Given the description of an element on the screen output the (x, y) to click on. 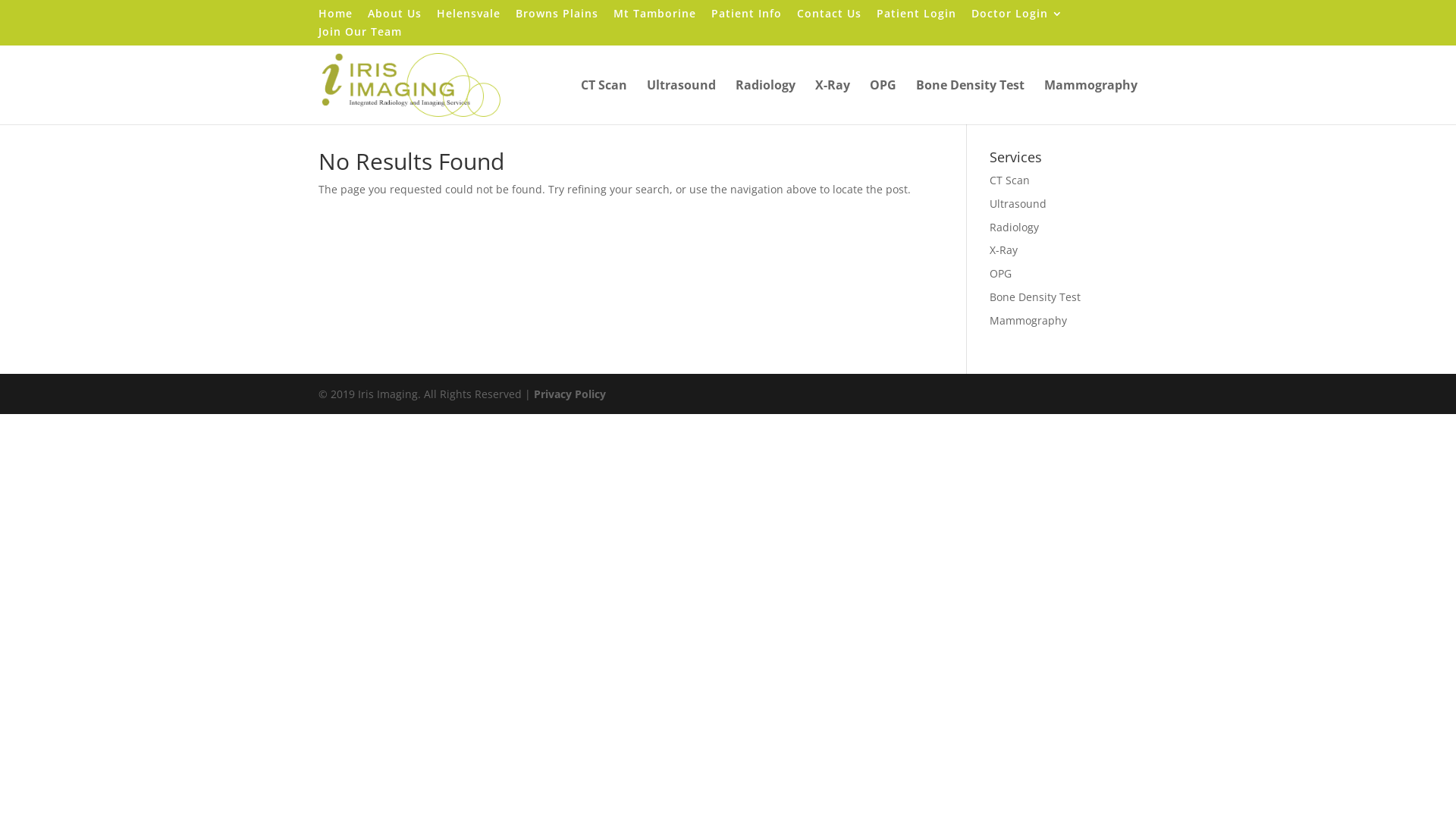
Ultrasound Element type: text (1017, 203)
Browns Plains Element type: text (556, 16)
Privacy Policy Element type: text (569, 393)
Ultrasound Element type: text (680, 101)
Bone Density Test Element type: text (970, 101)
OPG Element type: text (1000, 273)
Join Our Team Element type: text (359, 35)
X-Ray Element type: text (832, 101)
Radiology Element type: text (1013, 226)
Mammography Element type: text (1027, 320)
Home Element type: text (335, 16)
About Us Element type: text (394, 16)
CT Scan Element type: text (603, 101)
X-Ray Element type: text (1003, 249)
Contact Us Element type: text (829, 16)
Bone Density Test Element type: text (1034, 296)
Radiology Element type: text (765, 101)
Doctor Login Element type: text (1017, 16)
Patient Info Element type: text (746, 16)
Mammography Element type: text (1090, 101)
CT Scan Element type: text (1009, 179)
Patient Login Element type: text (916, 16)
Helensvale Element type: text (468, 16)
Mt Tamborine Element type: text (654, 16)
OPG Element type: text (882, 101)
